Given the description of an element on the screen output the (x, y) to click on. 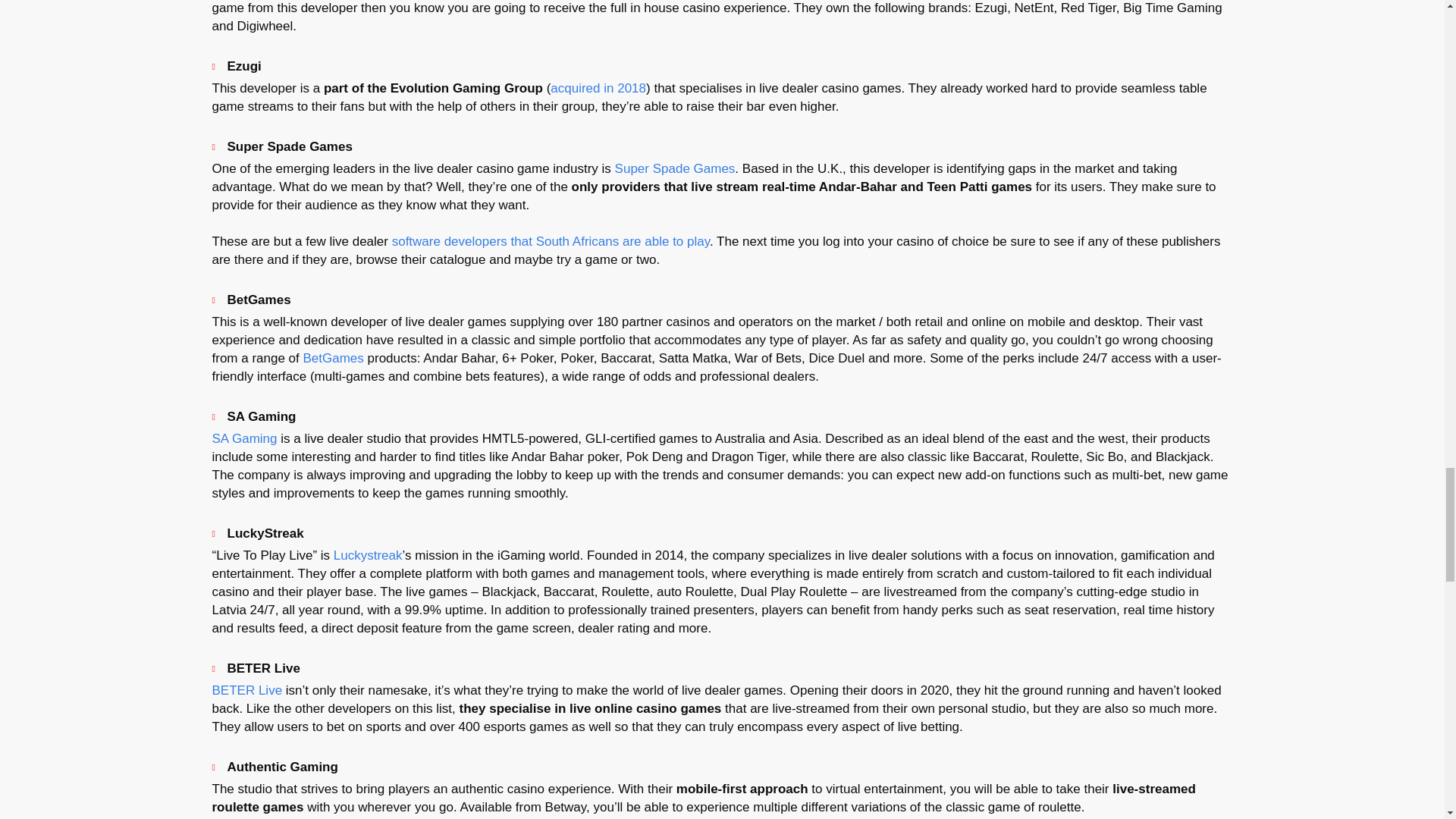
Caisno list and company review (674, 168)
